Given the description of an element on the screen output the (x, y) to click on. 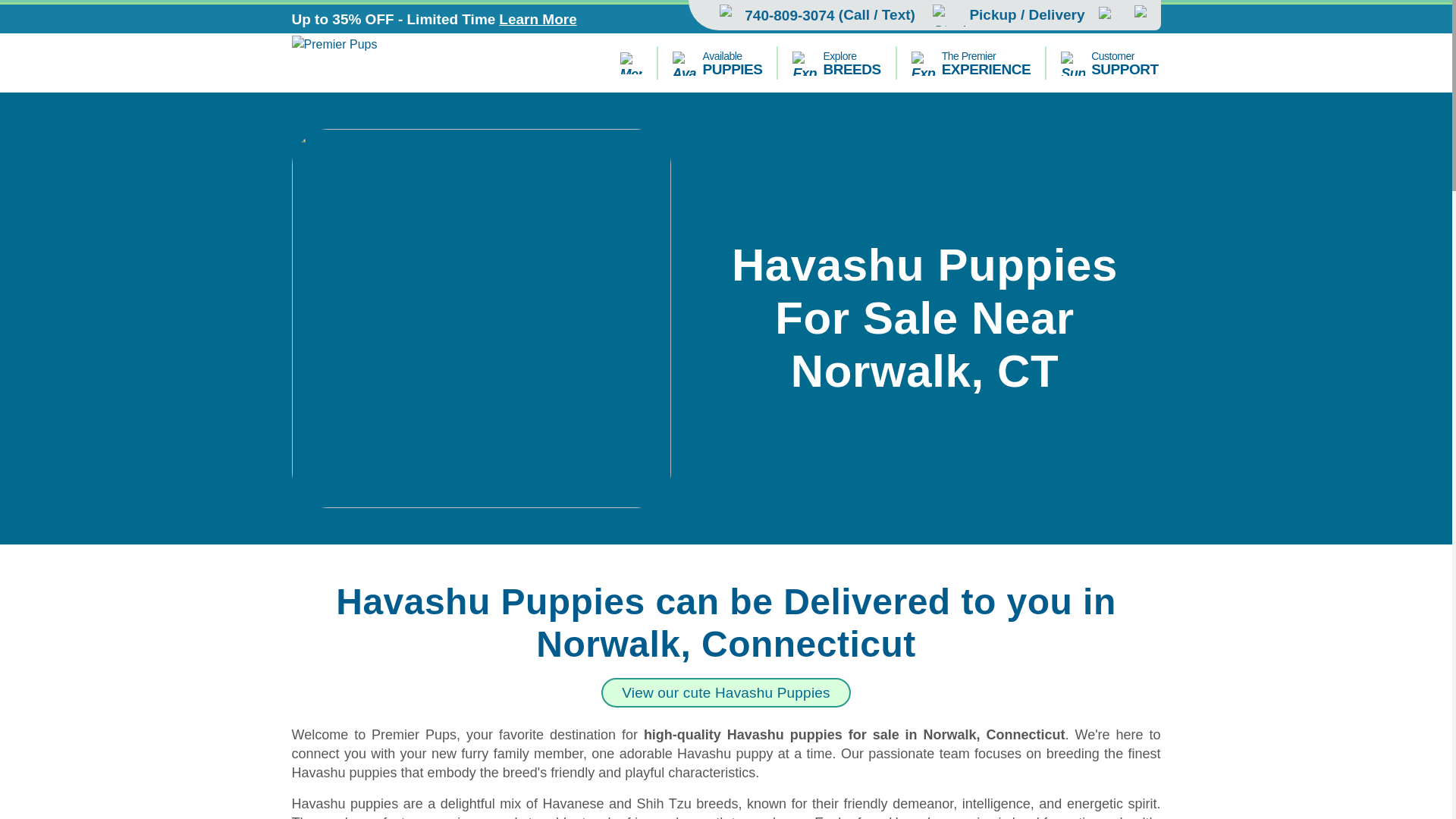
Delivery Options (1008, 15)
View our cute Havashu Puppies (725, 692)
Premier Pups (1109, 62)
Learn More (375, 63)
